Given the description of an element on the screen output the (x, y) to click on. 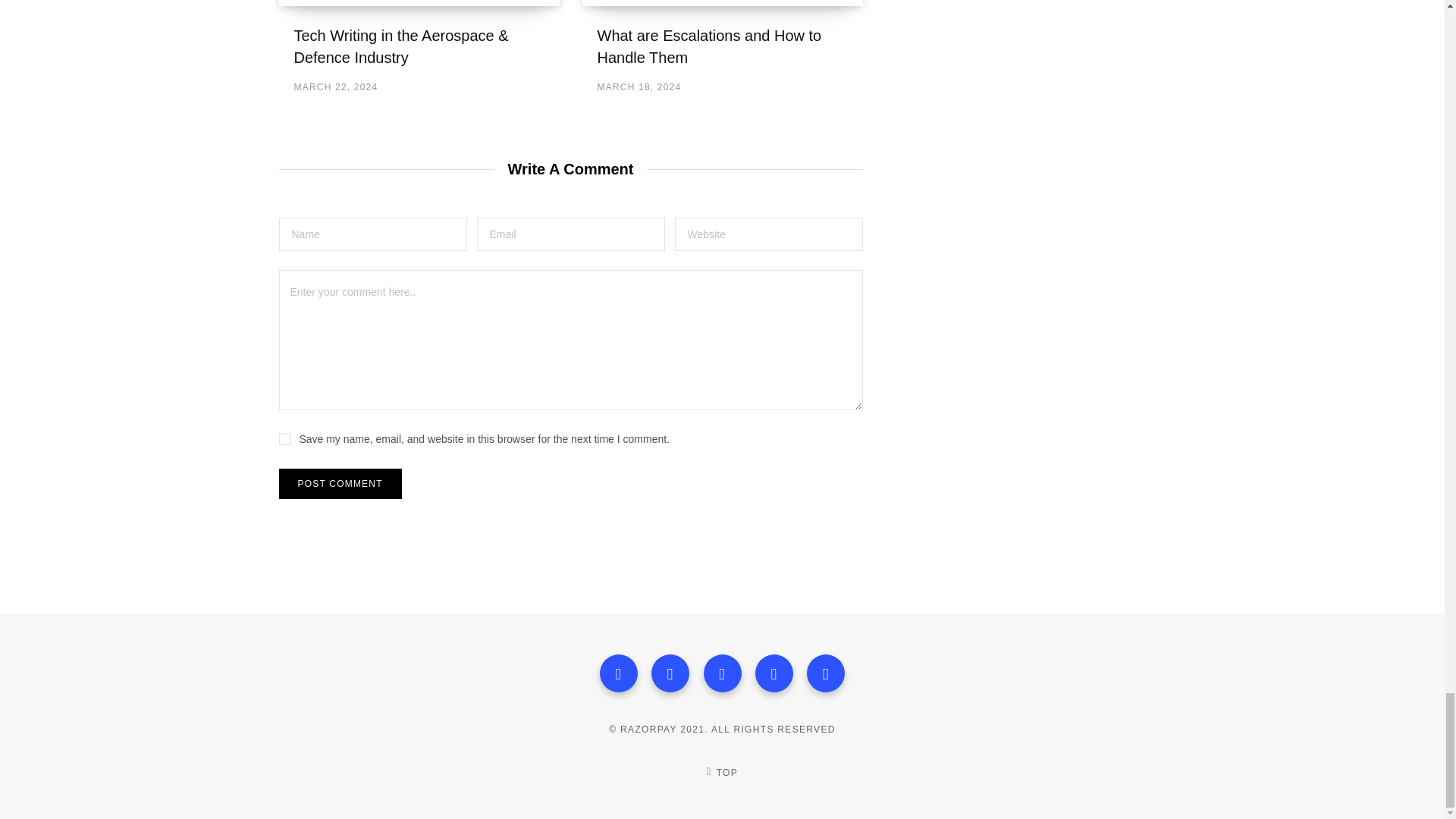
What are Escalations and How to Handle Them (709, 46)
yes (285, 439)
Post Comment (340, 483)
Post Comment (340, 483)
